Given the description of an element on the screen output the (x, y) to click on. 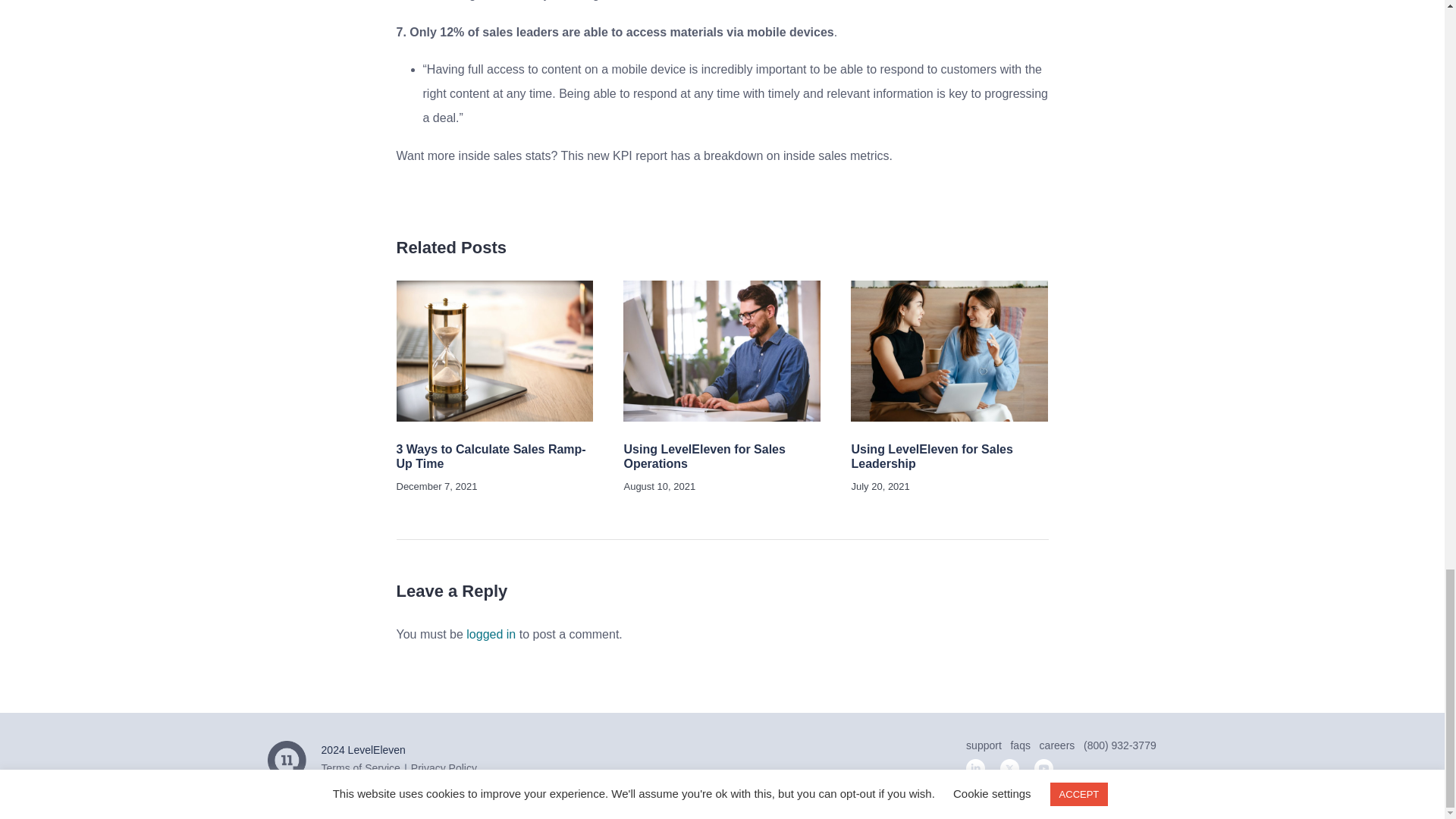
3 Ways to Calculate Sales Ramp-Up Time (490, 456)
Using LevelEleven for Sales Leadership (930, 456)
December 7, 2021 (436, 486)
3-Ways-To-Calculate-Sales-Ramp-Up-Time-Feature (494, 350)
August 10, 2021 (659, 486)
Using LevelEleven for Sales Operations (703, 456)
